Given the description of an element on the screen output the (x, y) to click on. 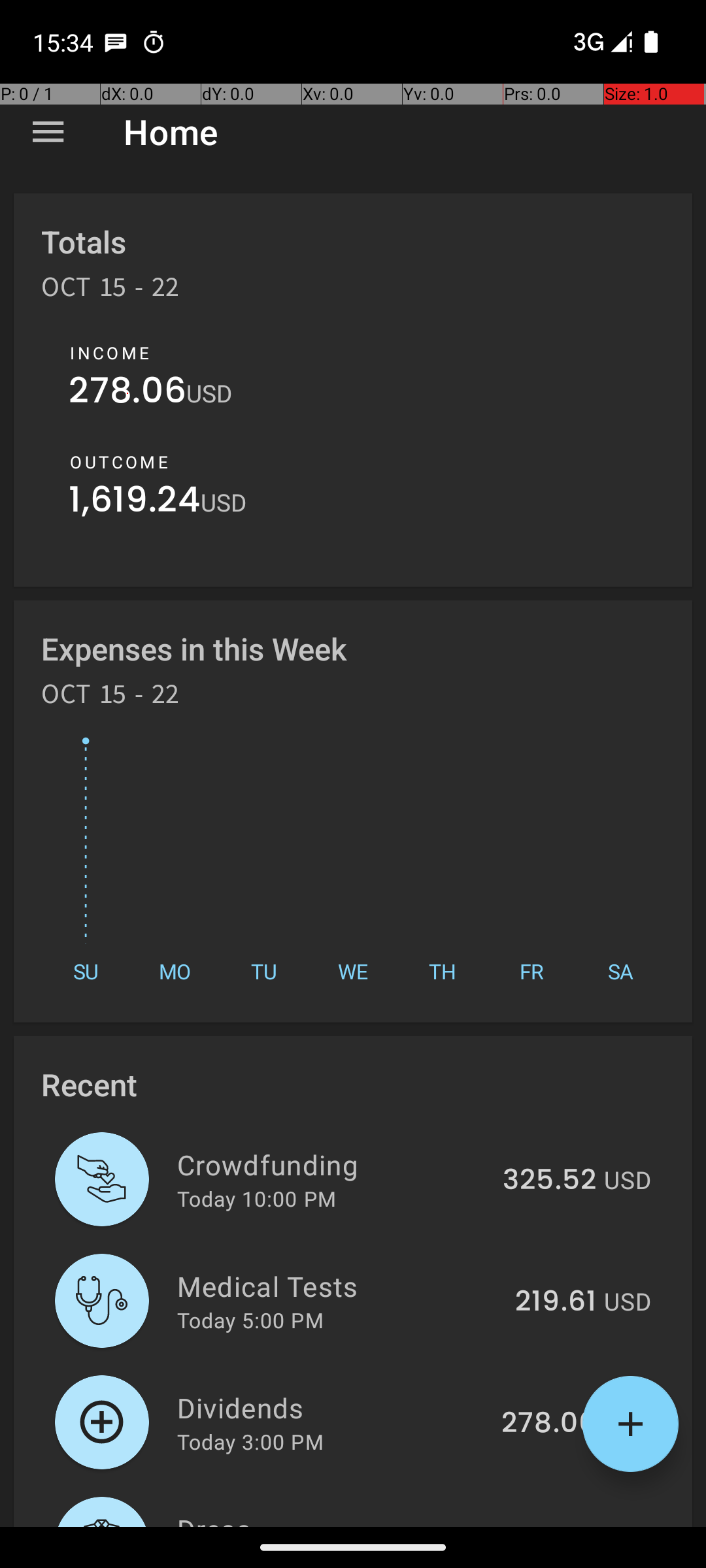
278.06 Element type: android.widget.TextView (127, 393)
1,619.24 Element type: android.widget.TextView (134, 502)
Crowdfunding Element type: android.widget.TextView (332, 1164)
325.52 Element type: android.widget.TextView (549, 1180)
Medical Tests Element type: android.widget.TextView (338, 1285)
219.61 Element type: android.widget.TextView (555, 1301)
Dividends Element type: android.widget.TextView (331, 1407)
Dress Element type: android.widget.TextView (330, 1518)
487.85 Element type: android.widget.TextView (547, 1524)
